Given the description of an element on the screen output the (x, y) to click on. 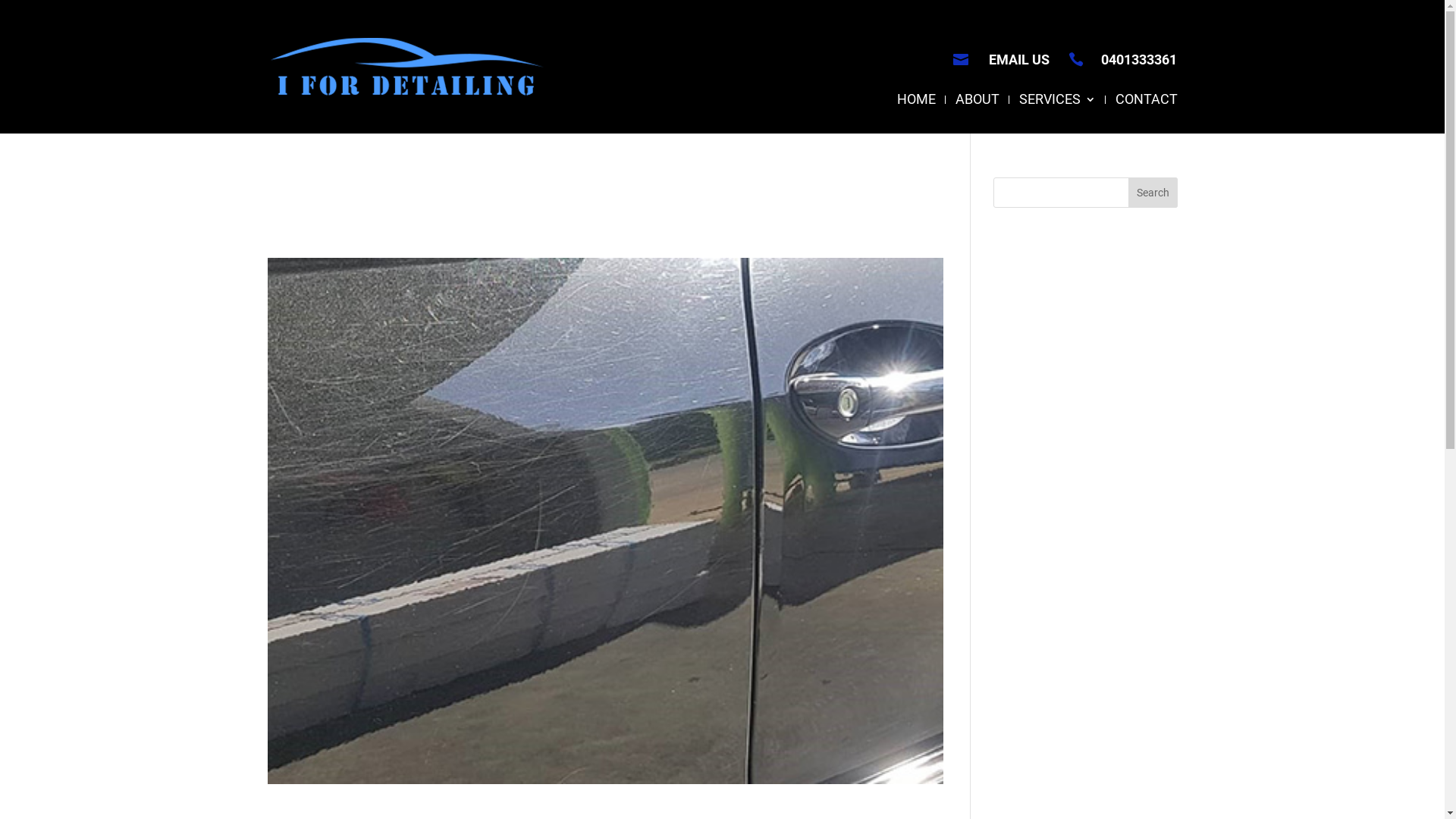
ABOUT Element type: text (977, 113)
SERVICES Element type: text (1057, 113)
CONTACT Element type: text (1145, 113)
HOME Element type: text (915, 113)
Search Element type: text (1152, 192)
